Given the description of an element on the screen output the (x, y) to click on. 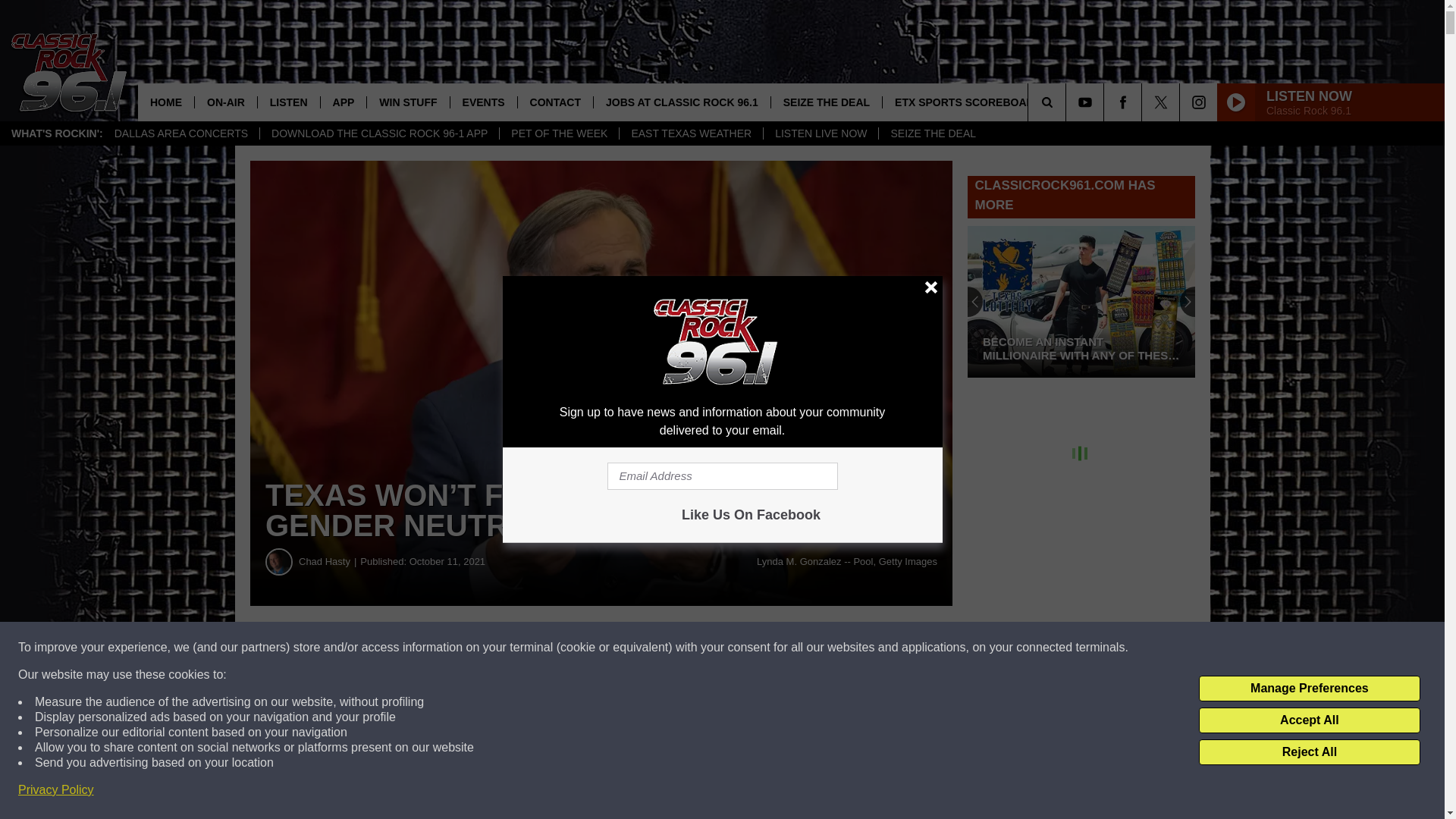
SEARCH (1068, 102)
Privacy Policy (55, 789)
SEIZE THE DEAL (932, 133)
Share on Facebook (460, 647)
Accept All (1309, 720)
Share on Twitter (741, 647)
LISTEN LIVE NOW (819, 133)
WIN STUFF (407, 102)
Manage Preferences (1309, 688)
DALLAS AREA CONCERTS (181, 133)
Reject All (1309, 751)
APP (343, 102)
SEARCH (1068, 102)
Email Address (722, 475)
PET OF THE WEEK (558, 133)
